Given the description of an element on the screen output the (x, y) to click on. 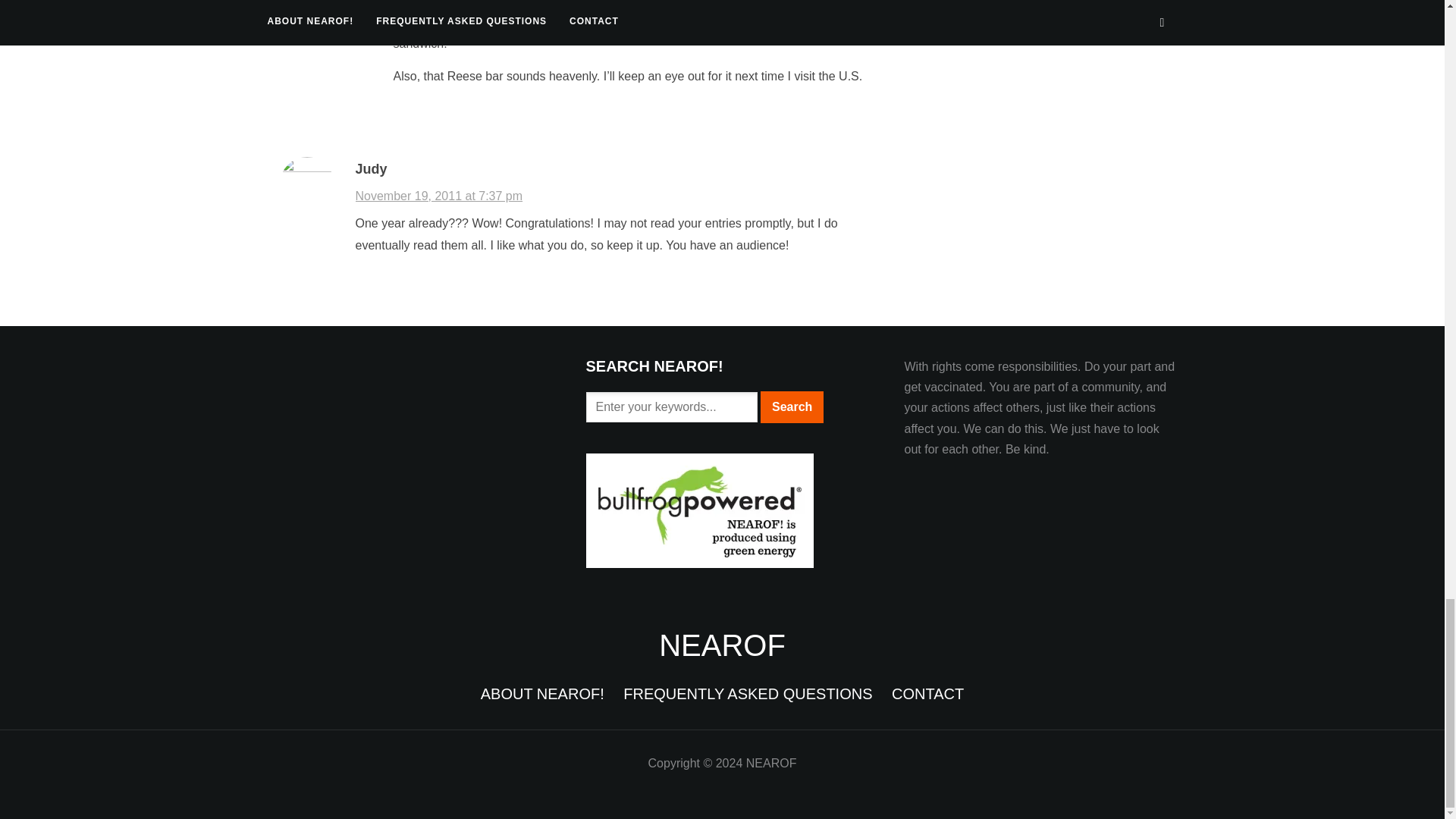
Search (792, 407)
Search (792, 407)
